Given the description of an element on the screen output the (x, y) to click on. 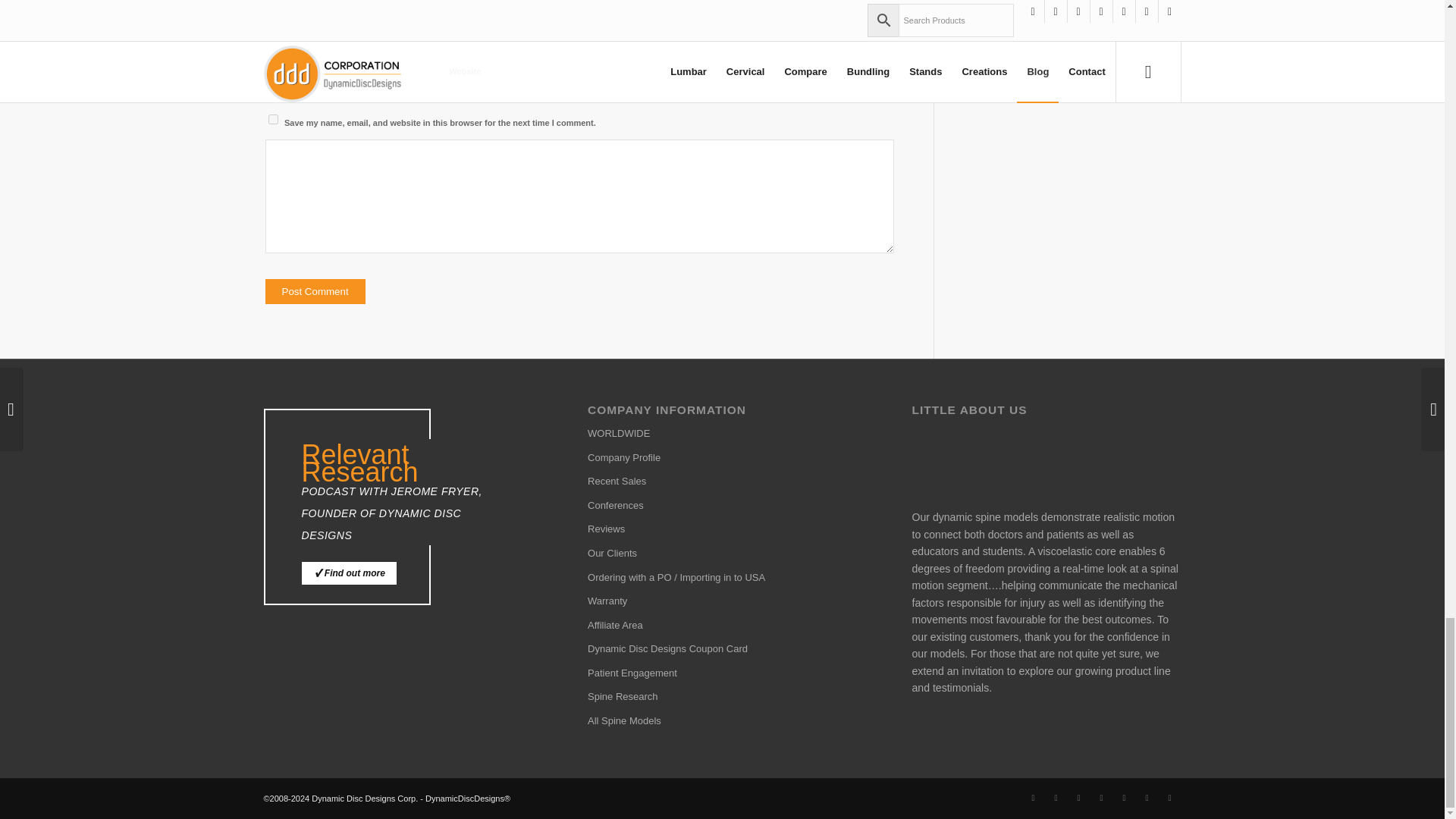
yes (272, 119)
Post Comment (314, 291)
